Given the description of an element on the screen output the (x, y) to click on. 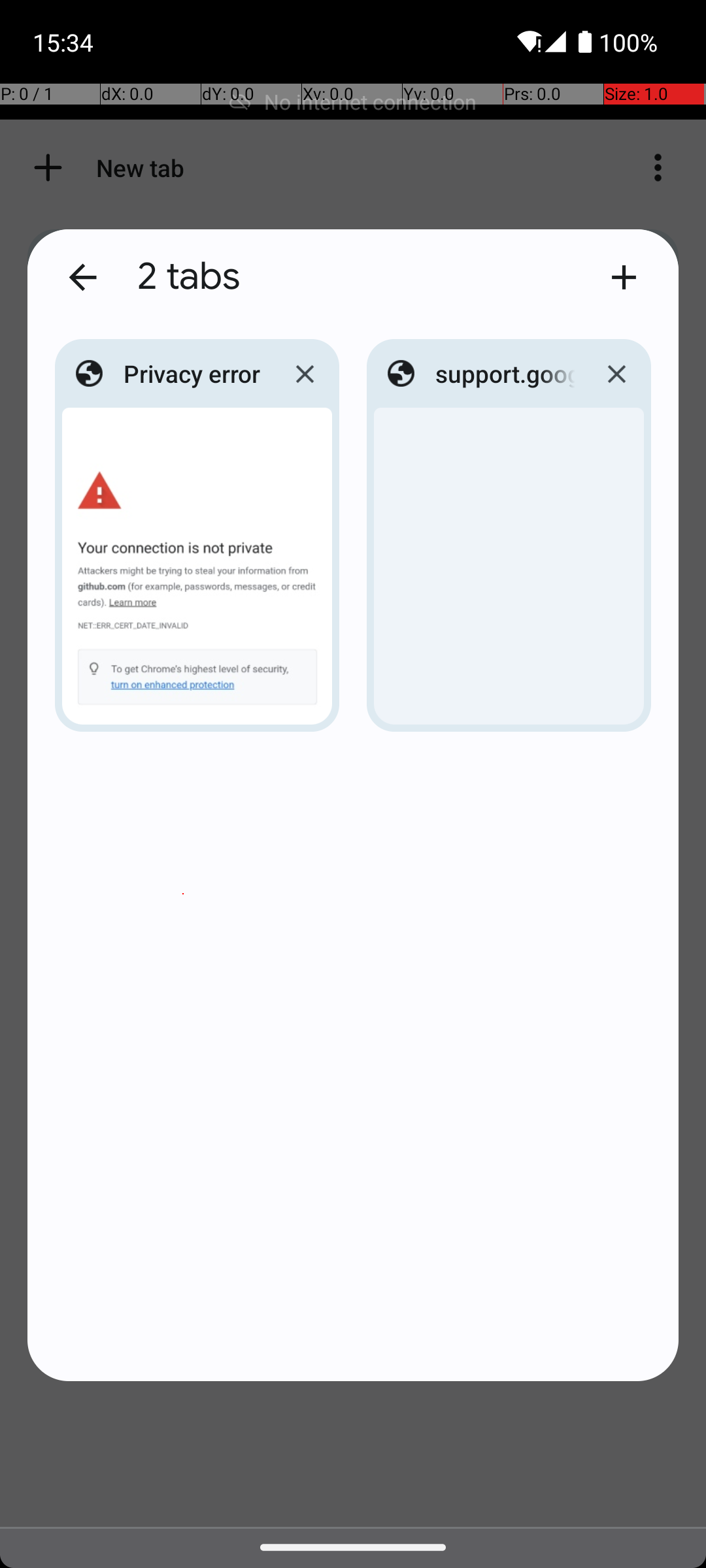
Tab group expanded Element type: android.widget.RelativeLayout (352, 805)
Hide fullscreen grid Element type: android.widget.ImageView (82, 276)
2 tabs Element type: android.widget.EditText (359, 277)
Add new tab to group Element type: android.widget.ImageView (623, 276)
Close Privacy error tab Element type: android.widget.ImageView (304, 373)
support.google.com Element type: android.widget.TextView (505, 373)
Close support.google.com tab Element type: android.widget.ImageView (616, 373)
